Given the description of an element on the screen output the (x, y) to click on. 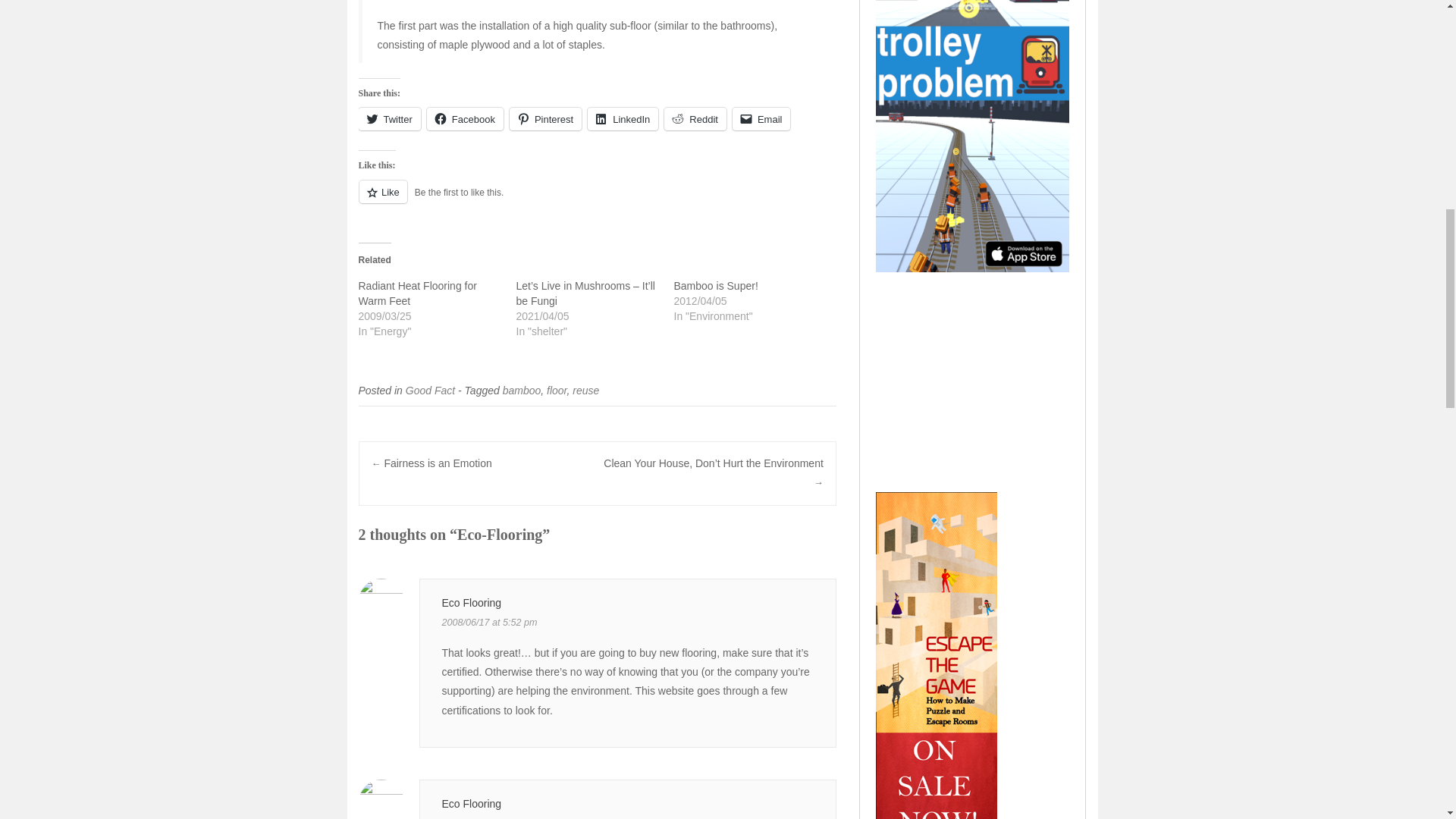
Click to share on Twitter (389, 118)
Pinterest (544, 118)
Twitter (389, 118)
Radiant Heat Flooring for Warm Feet (417, 293)
Facebook (464, 118)
Good Fact (430, 390)
Click to share on Facebook (464, 118)
Eco Flooring (470, 603)
Click to share on Pinterest (544, 118)
Like or Reblog (596, 200)
Eco Flooring (470, 803)
Reddit (694, 118)
Bamboo is Super! (714, 285)
Click to share on LinkedIn (623, 118)
Radiant Heat Flooring for Warm Feet (417, 293)
